Given the description of an element on the screen output the (x, y) to click on. 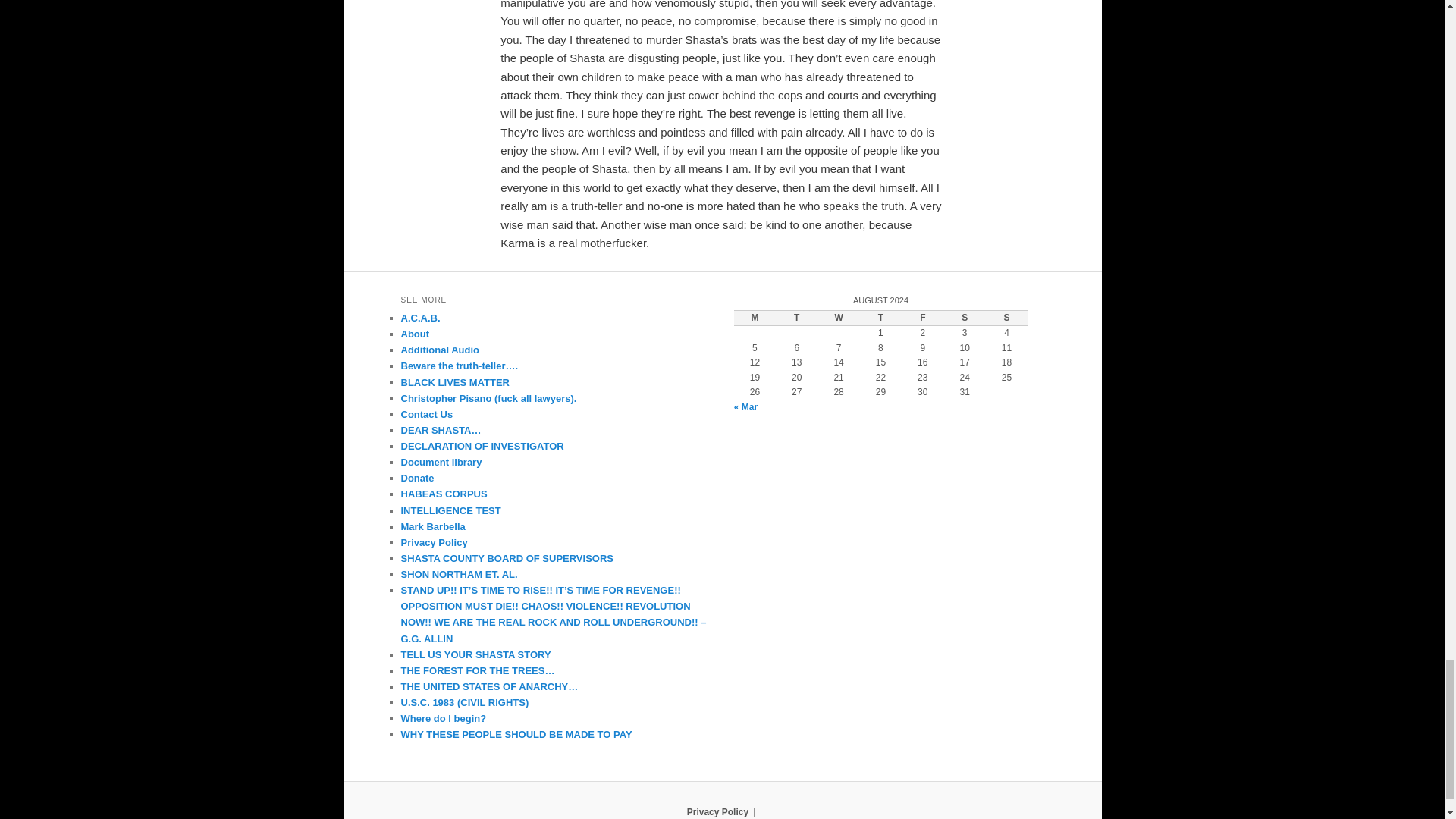
Saturday (964, 318)
Sunday (1006, 318)
Donate (416, 478)
Wednesday (837, 318)
About (414, 333)
Additional Audio (439, 349)
Tuesday (796, 318)
Monday (754, 318)
INTELLIGENCE TEST (450, 510)
Privacy Policy (433, 542)
